Given the description of an element on the screen output the (x, y) to click on. 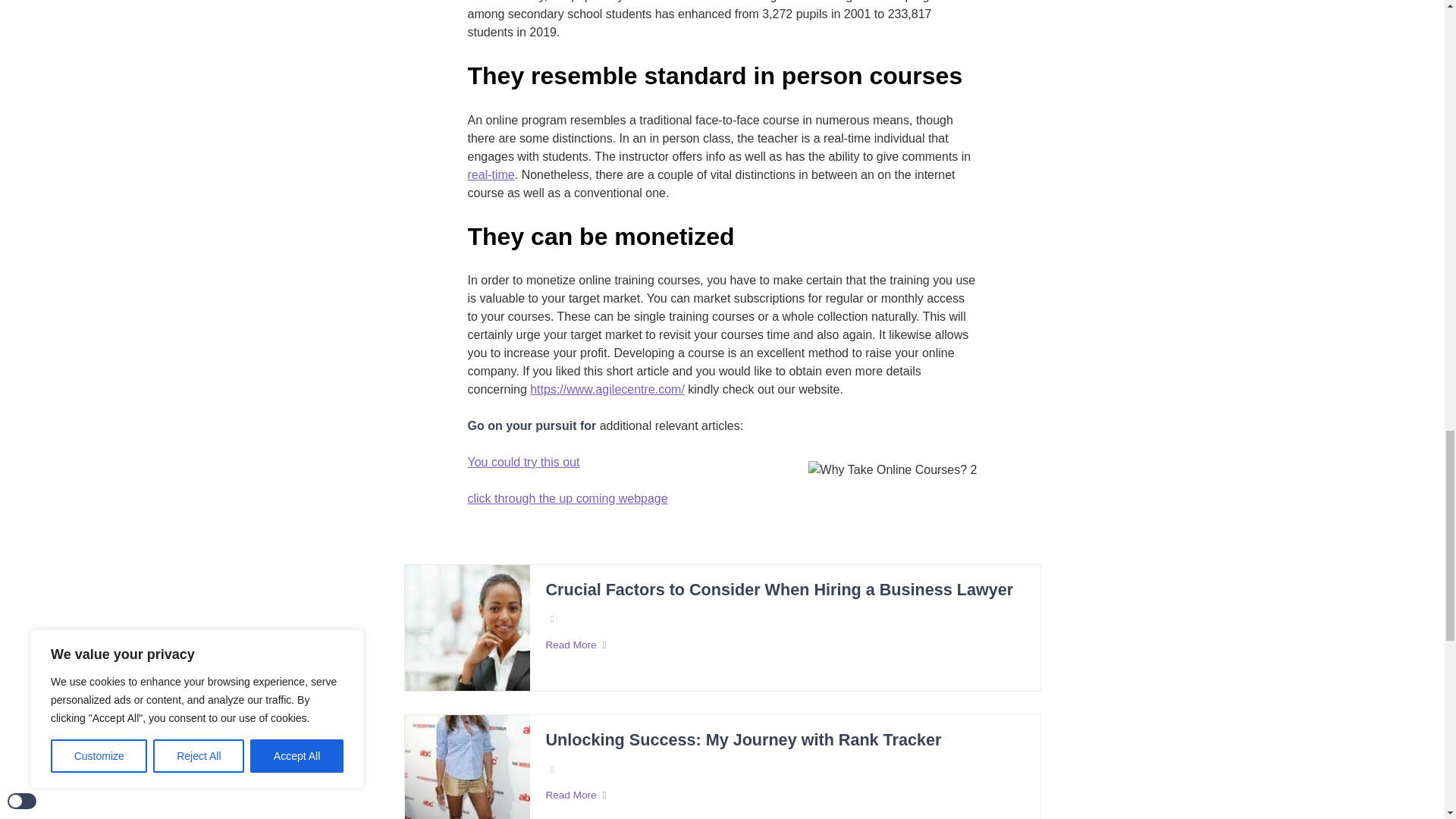
Unlocking Success: My Journey with Rank Tracker (742, 740)
click through the up coming webpage (566, 498)
Read More (784, 795)
You could try this out (523, 462)
real-time (490, 175)
Read More (784, 645)
Crucial Factors to Consider When Hiring a Business Lawyer (778, 589)
